Given the description of an element on the screen output the (x, y) to click on. 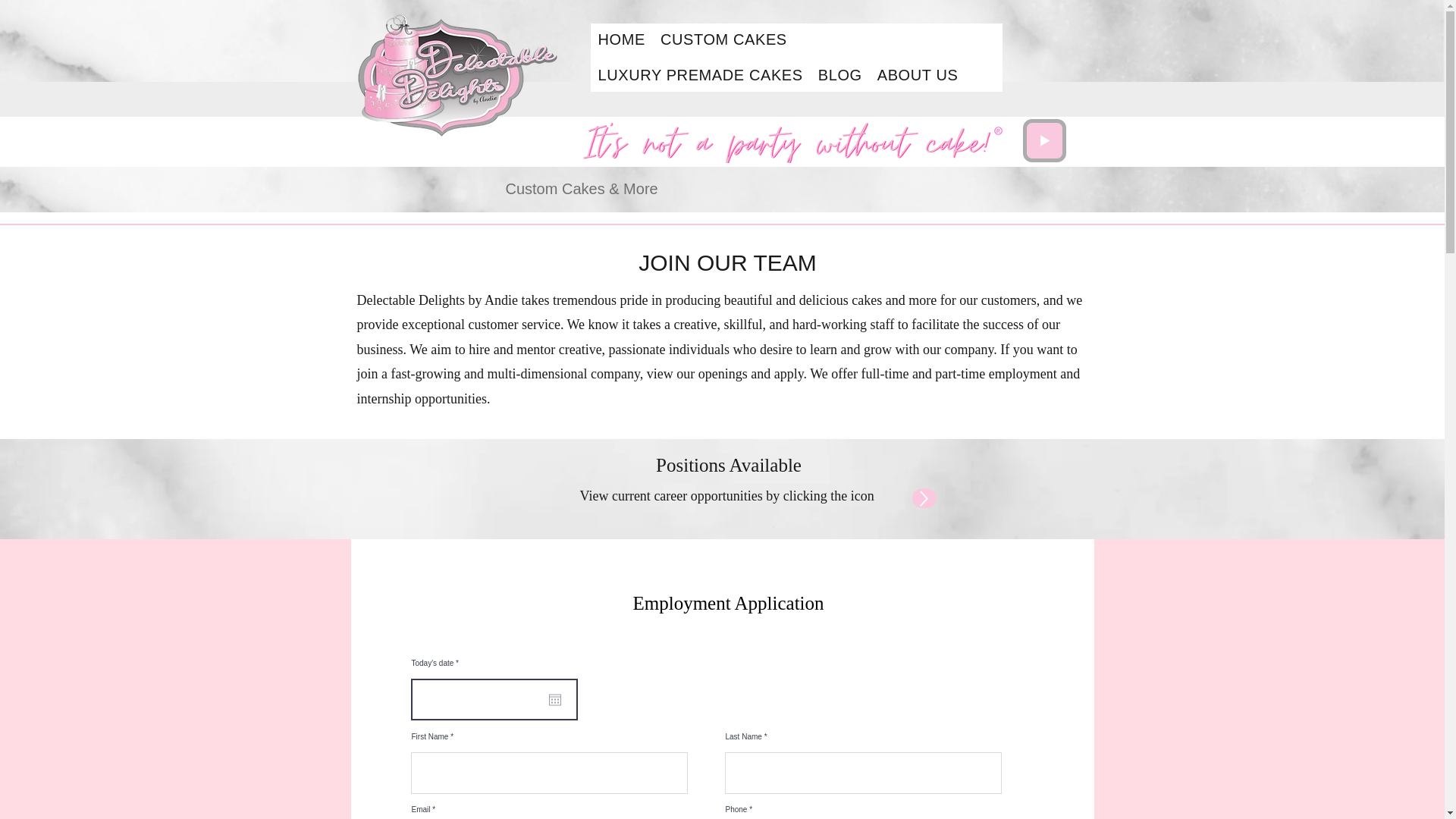
CUSTOM CAKES (723, 39)
LUXURY PREMADE CAKES (699, 74)
ABOUT US (917, 74)
It's Not a Party Without Cake! (458, 74)
HOME (620, 39)
BLOG (839, 74)
